Given the description of an element on the screen output the (x, y) to click on. 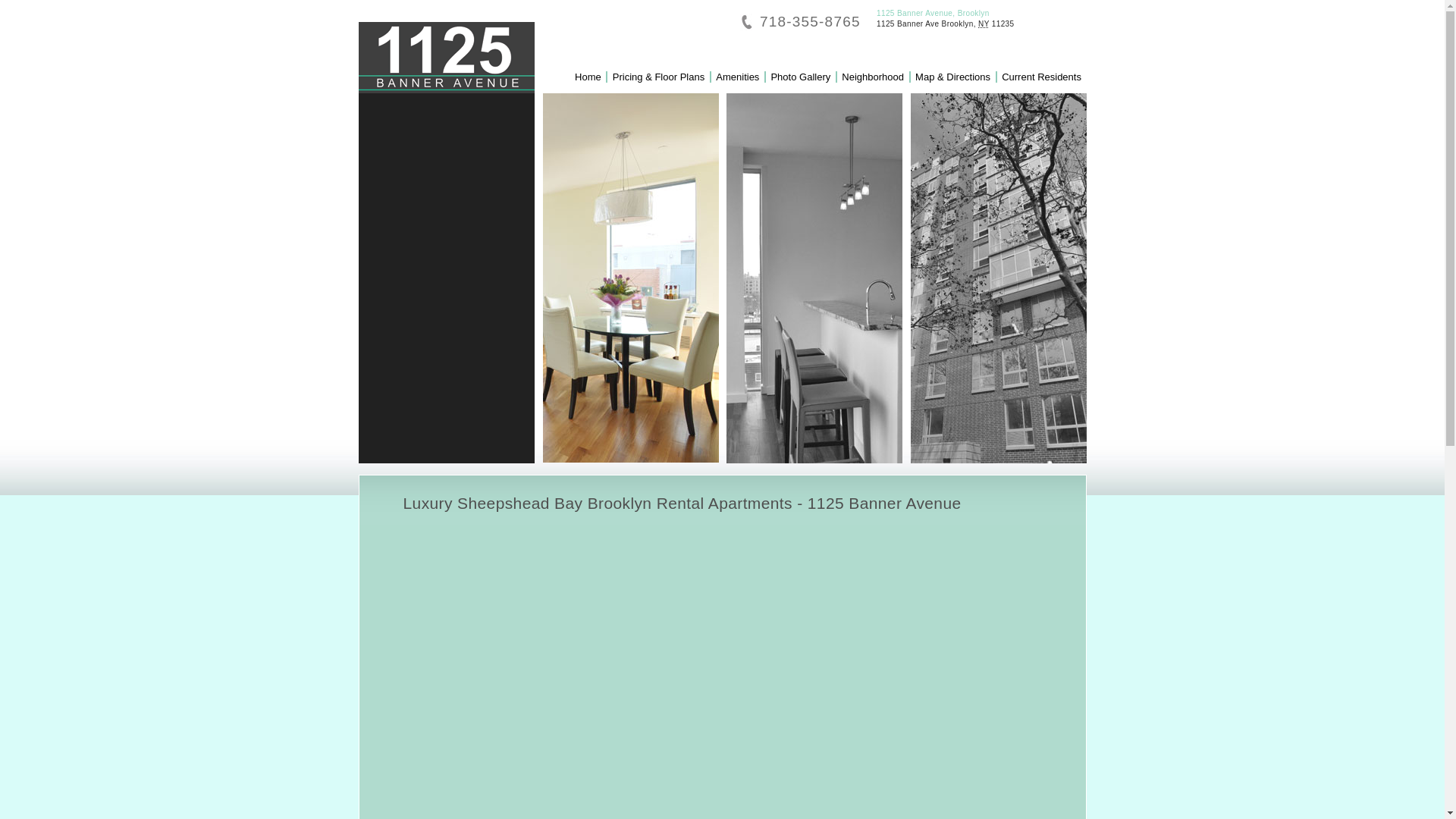
Map & Directions Element type: text (952, 76)
Current Residents Element type: text (1041, 76)
Neighborhood Element type: text (872, 76)
Home Element type: text (587, 76)
Pricing & Floor Plans Element type: text (658, 76)
Photo Gallery Element type: text (800, 76)
Amenities Element type: text (737, 76)
